Given the description of an element on the screen output the (x, y) to click on. 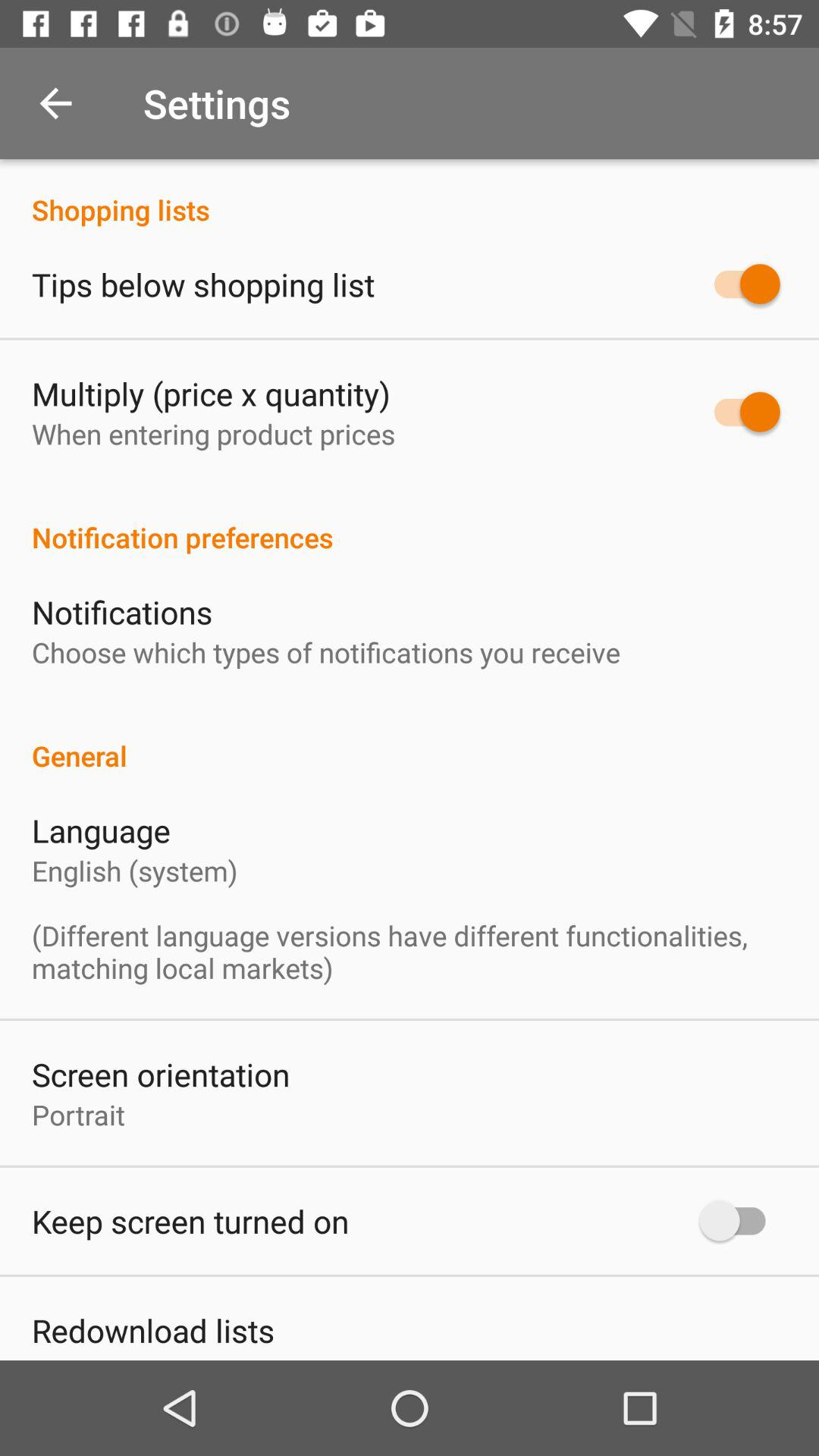
choose the item above the when entering product icon (210, 393)
